Given the description of an element on the screen output the (x, y) to click on. 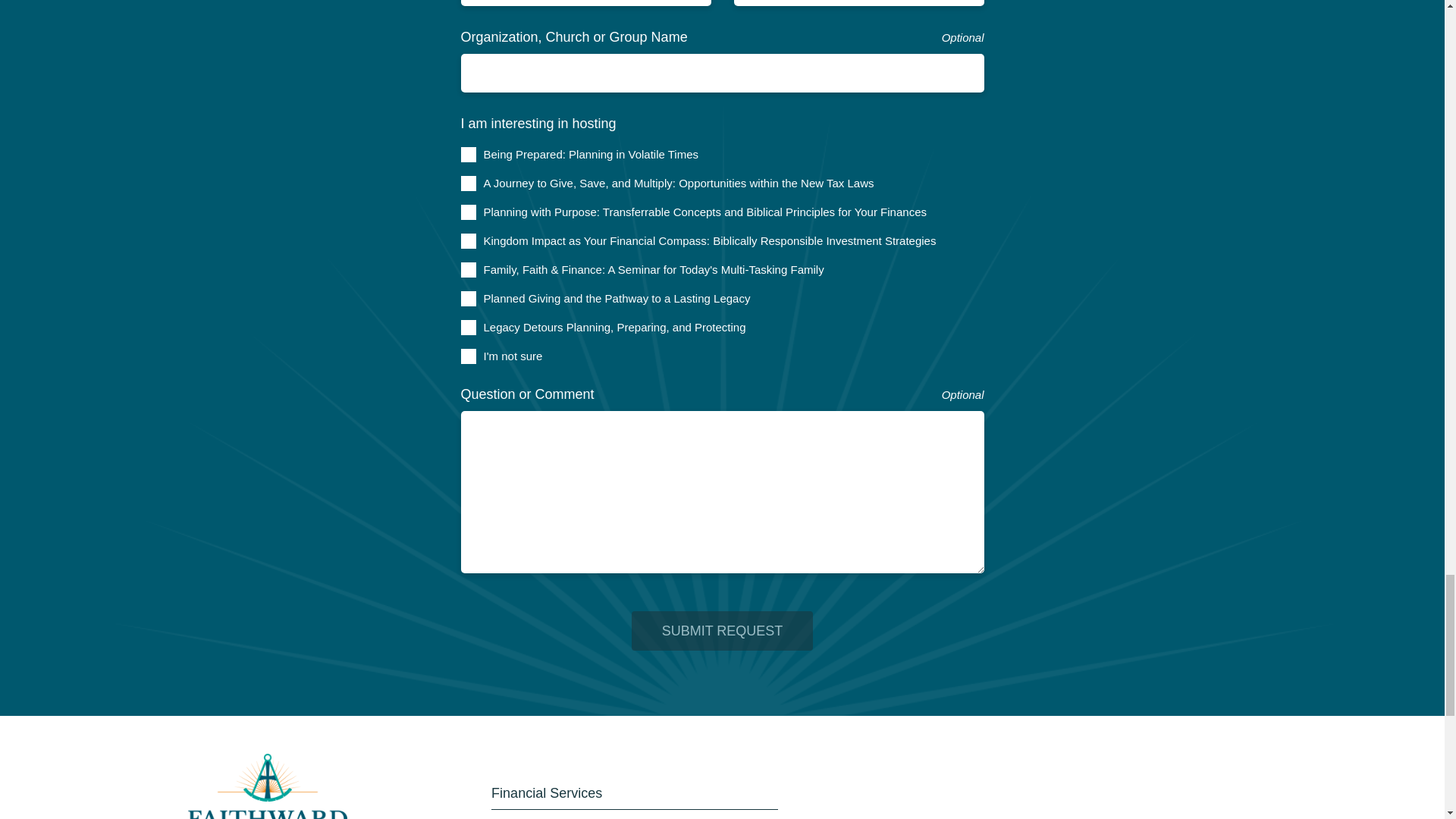
Submit Request (722, 630)
